Given the description of an element on the screen output the (x, y) to click on. 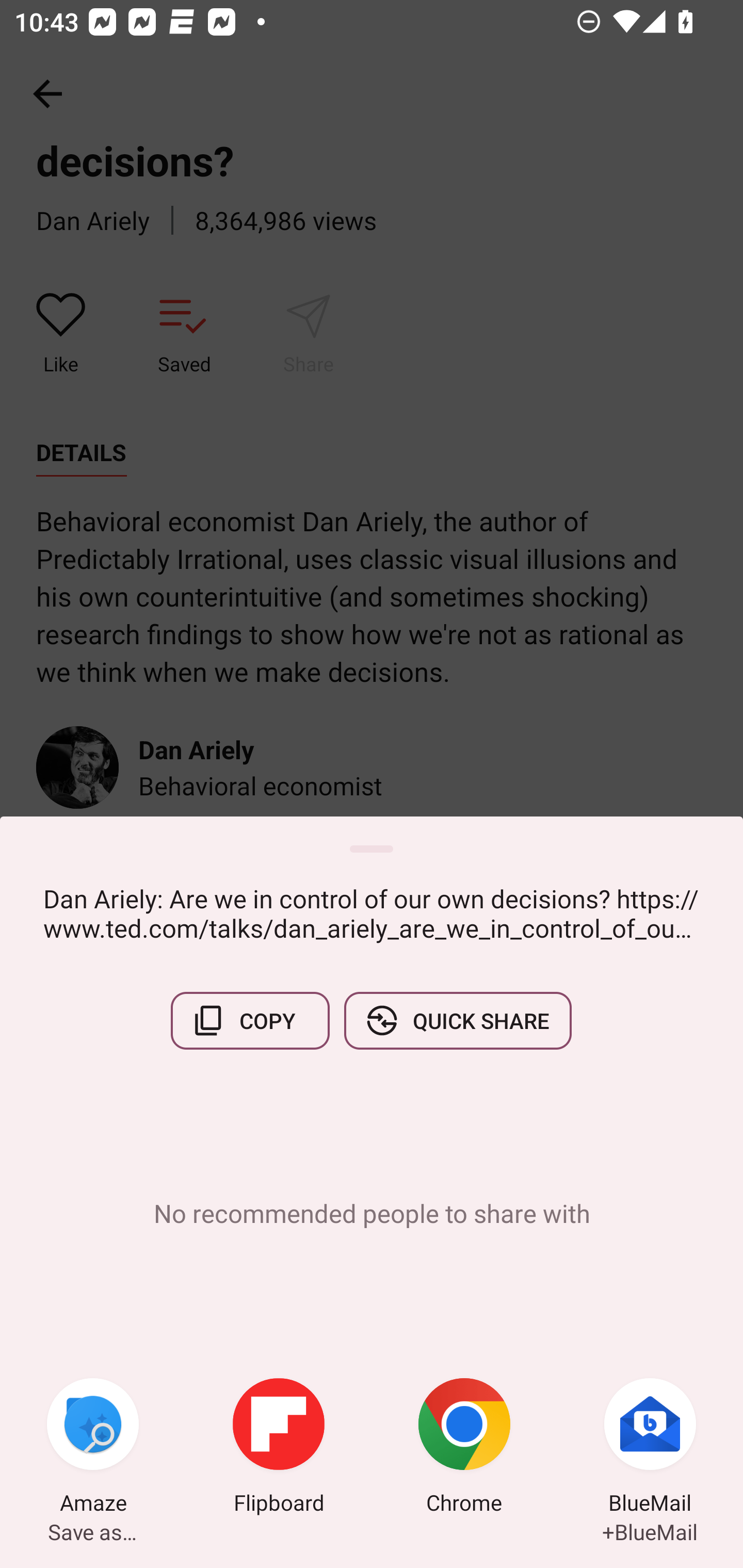
COPY (249, 1020)
QUICK SHARE (457, 1020)
Amaze Save as… (92, 1448)
Flipboard (278, 1448)
Chrome (464, 1448)
BlueMail +BlueMail (650, 1448)
